Given the description of an element on the screen output the (x, y) to click on. 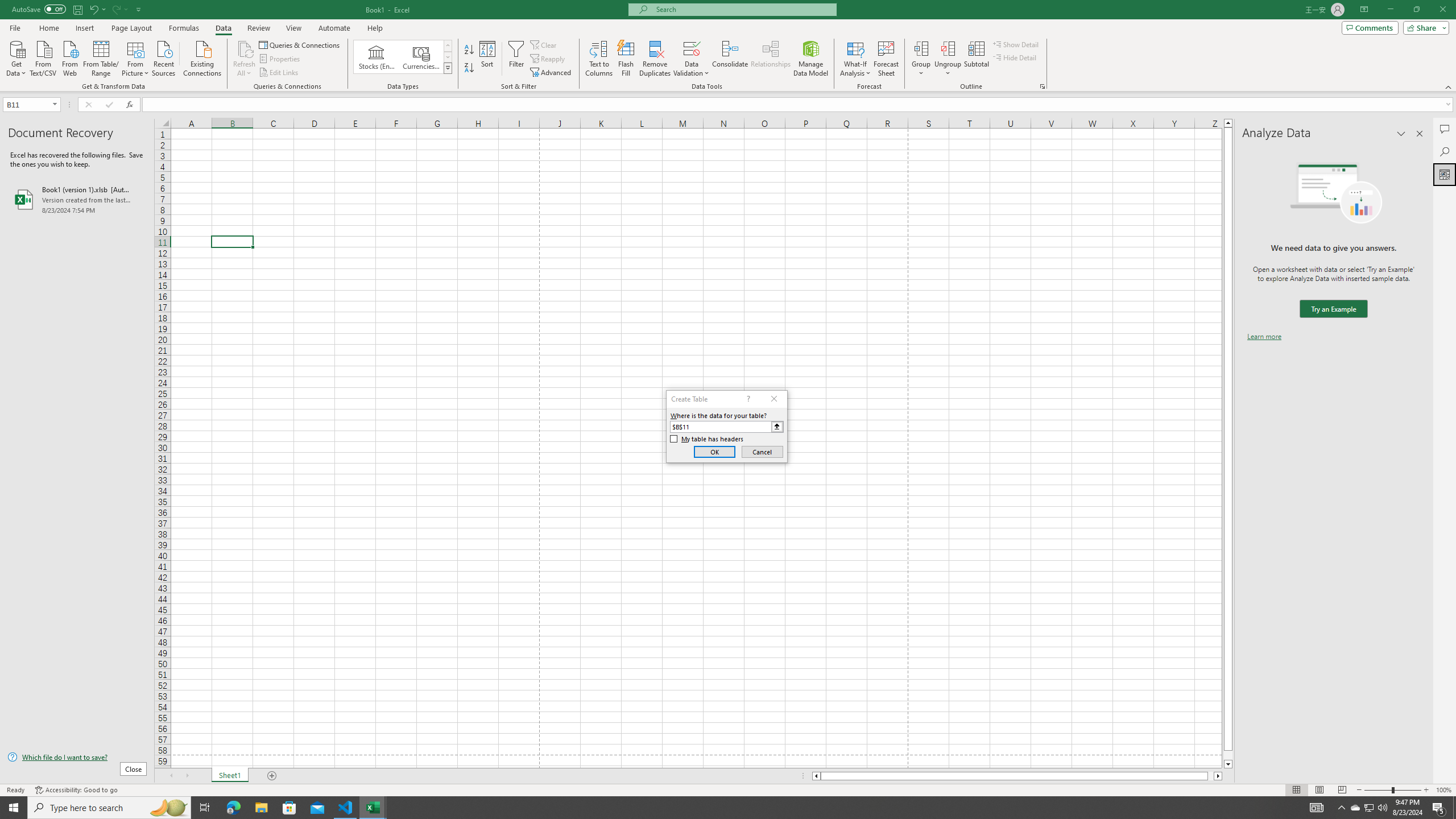
Task Pane Options (1400, 133)
Page down (1228, 755)
Data Validation... (691, 48)
From Table/Range (100, 57)
AutomationID: ConvertToLinkedEntity (403, 56)
Filter (515, 58)
Subtotal (976, 58)
Hide Detail (1014, 56)
Ungroup... (947, 58)
Redo (115, 9)
Existing Connections (202, 57)
Book1 (version 1).xlsb  [AutoRecovered] (77, 199)
Row Down (448, 56)
Line up (1228, 122)
Page Layout (1318, 790)
